Given the description of an element on the screen output the (x, y) to click on. 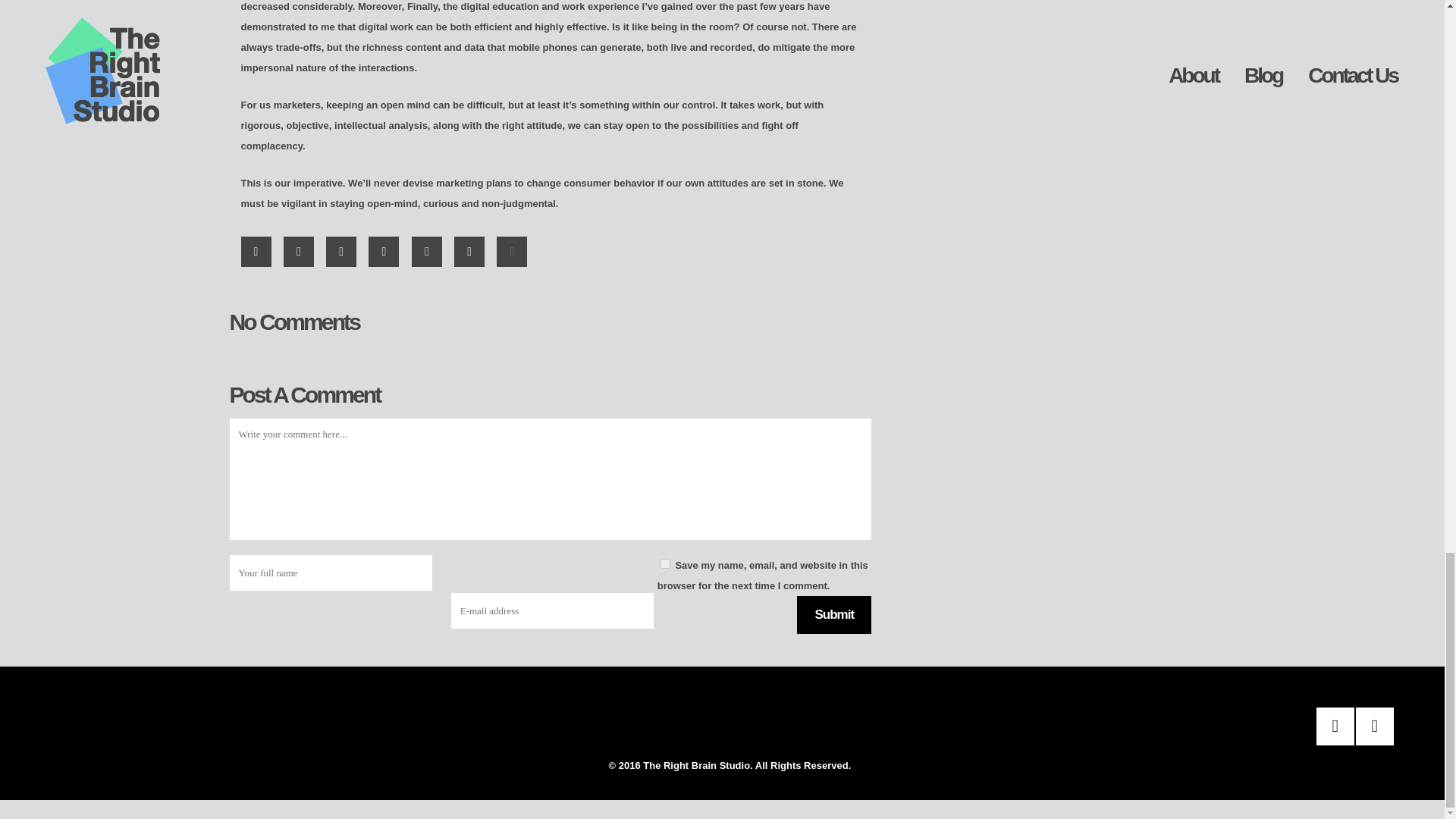
Submit (833, 614)
yes (665, 563)
Submit (833, 614)
